Given the description of an element on the screen output the (x, y) to click on. 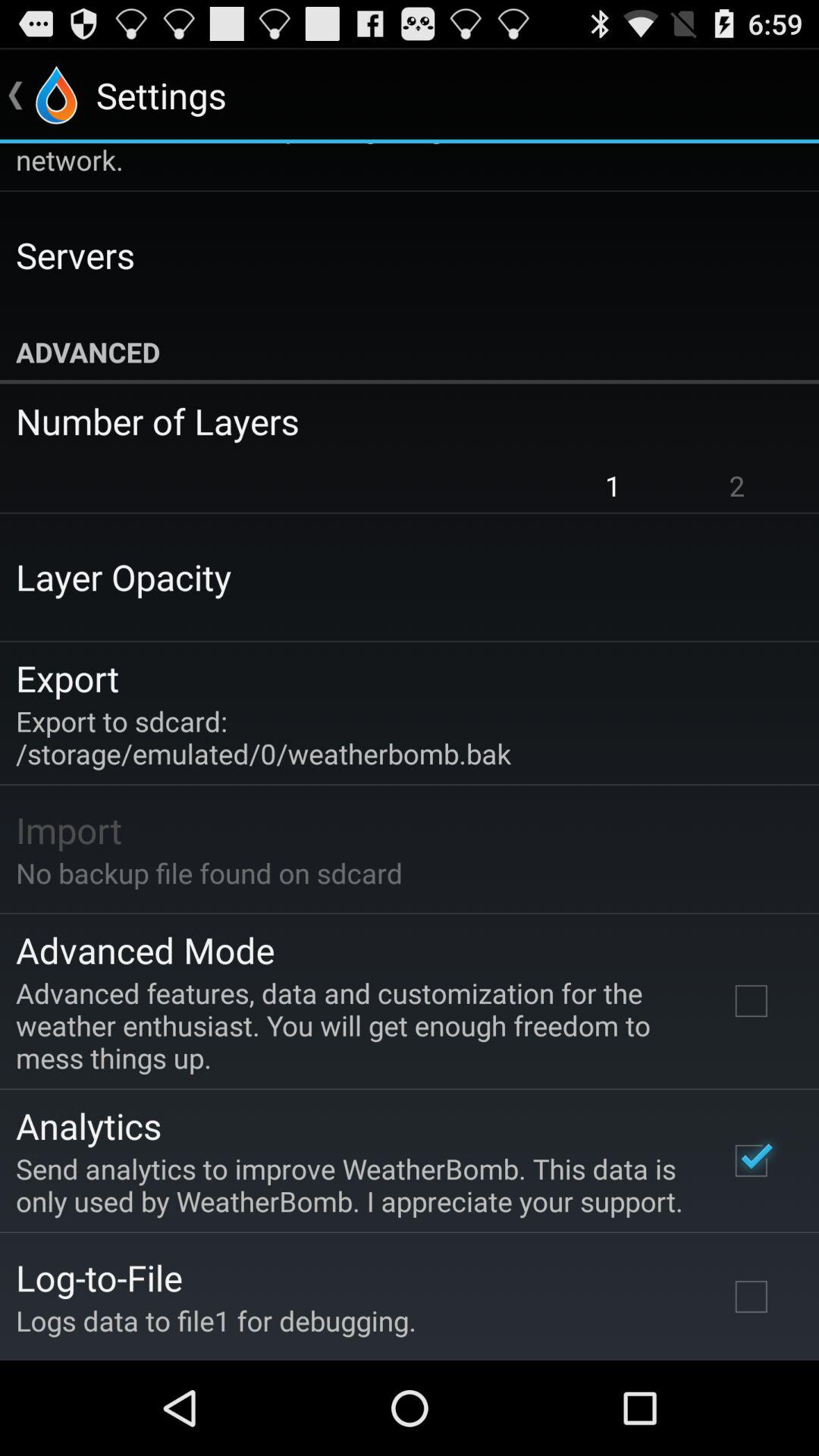
turn off the app above the import item (263, 737)
